Given the description of an element on the screen output the (x, y) to click on. 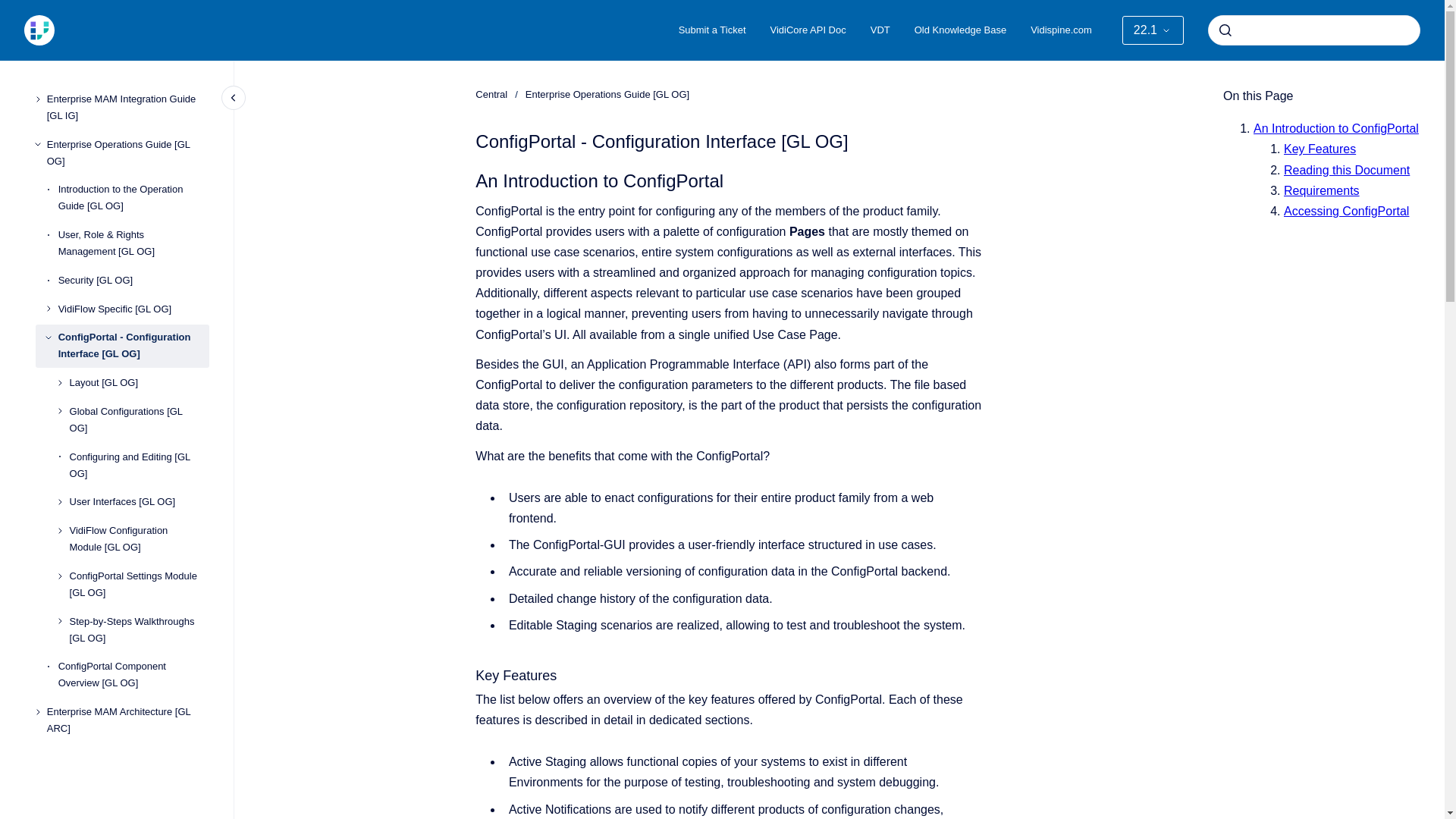
Go to homepage (39, 30)
Submit a Ticket (712, 29)
Central (491, 94)
Vidispine.com (1060, 29)
VidiCore API Doc (808, 29)
22.1 (1152, 30)
Old Knowledge Base (959, 29)
VDT (880, 29)
